Given the description of an element on the screen output the (x, y) to click on. 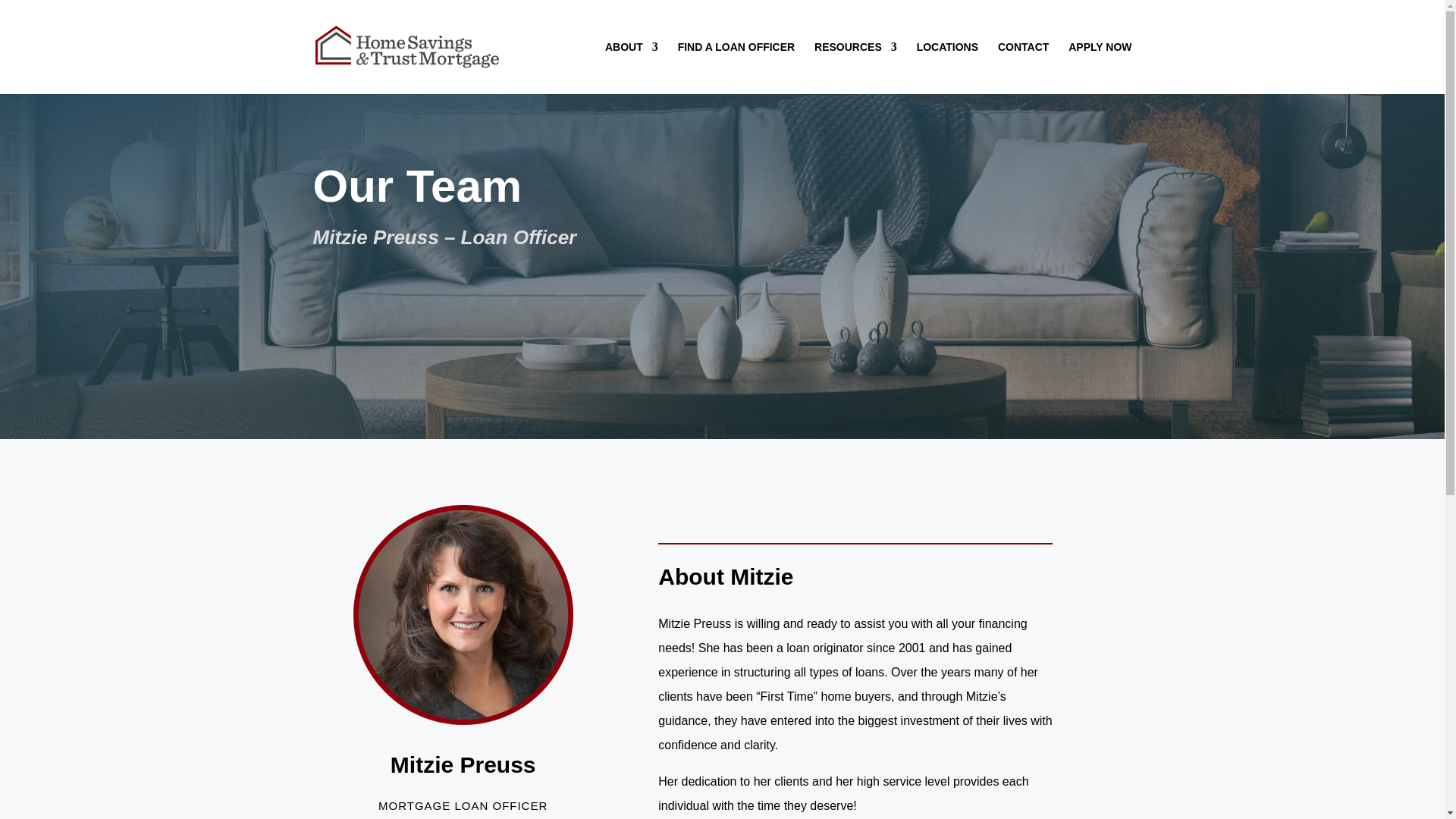
ABOUT (631, 67)
Mitzie Preuss Headshot (463, 614)
LOCATIONS (947, 67)
RESOURCES (854, 67)
CONTACT (1022, 67)
APPLY NOW (1099, 67)
FIND A LOAN OFFICER (736, 67)
